Given the description of an element on the screen output the (x, y) to click on. 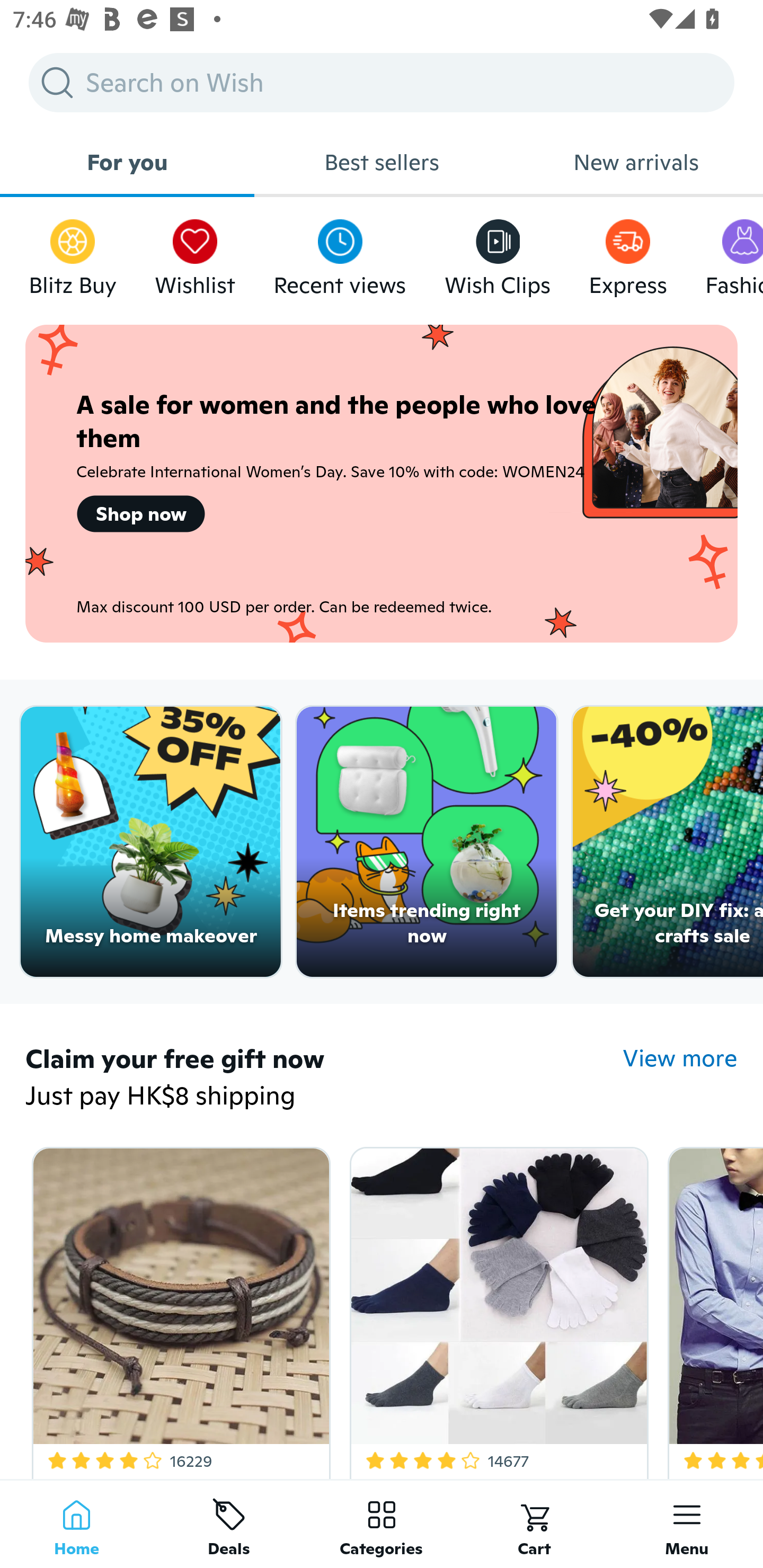
Search on Wish (381, 82)
For you (127, 161)
Best sellers (381, 161)
New arrivals (635, 161)
Blitz Buy (72, 252)
Wishlist (194, 252)
Recent views (339, 252)
Wish Clips (497, 252)
Express (627, 252)
Fashion (734, 252)
Messy home makeover (150, 841)
Items trending right now (426, 841)
Get your DIY fix: arts & crafts sale (668, 841)
Claim your free gift now
Just pay HK$8 shipping (323, 1078)
View more (679, 1058)
3.8 Star Rating 16229 Free (177, 1308)
4.2 Star Rating 14677 Free (495, 1308)
Home (76, 1523)
Deals (228, 1523)
Categories (381, 1523)
Cart (533, 1523)
Menu (686, 1523)
